Given the description of an element on the screen output the (x, y) to click on. 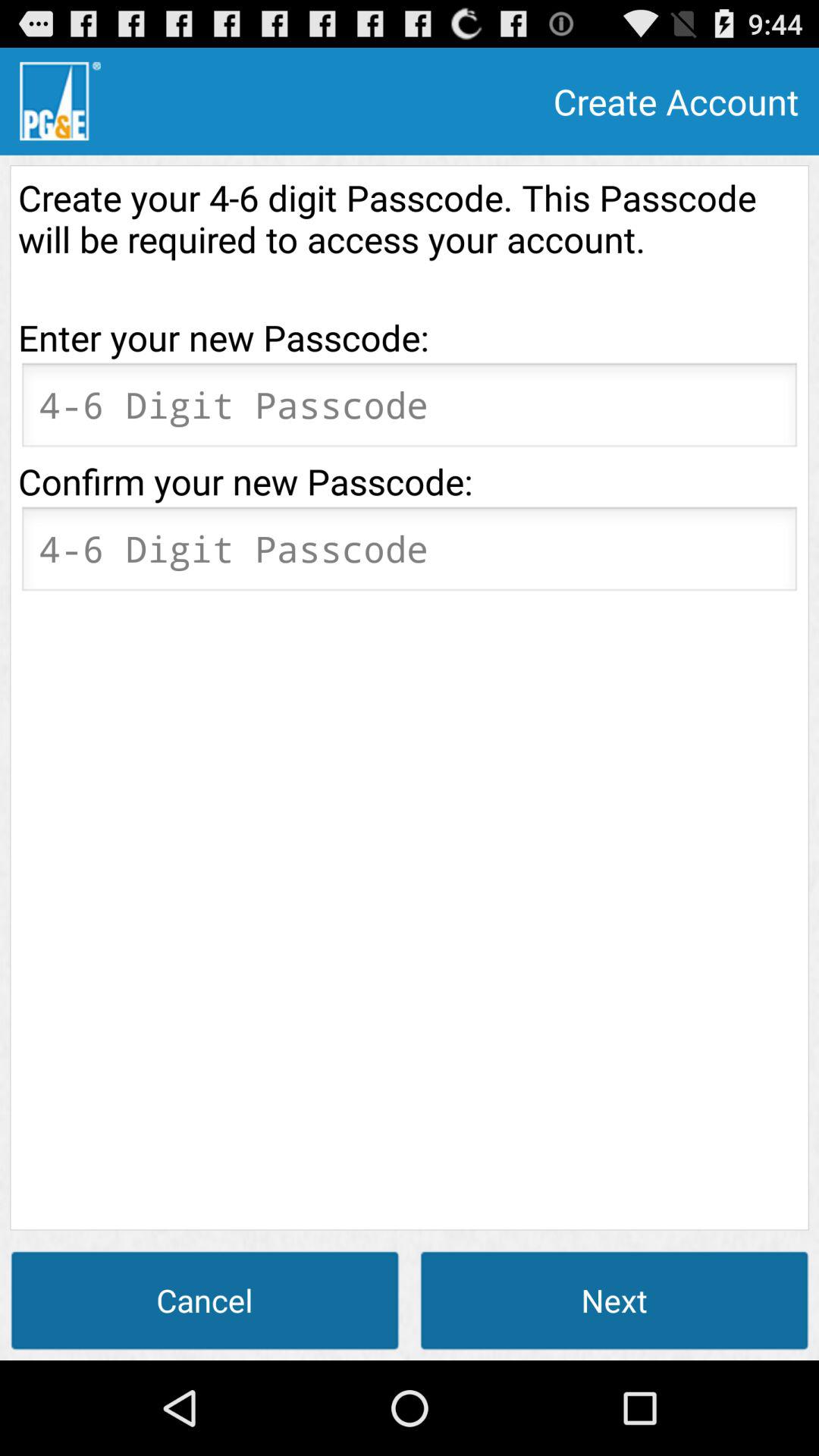
turn on the cancel item (204, 1300)
